Given the description of an element on the screen output the (x, y) to click on. 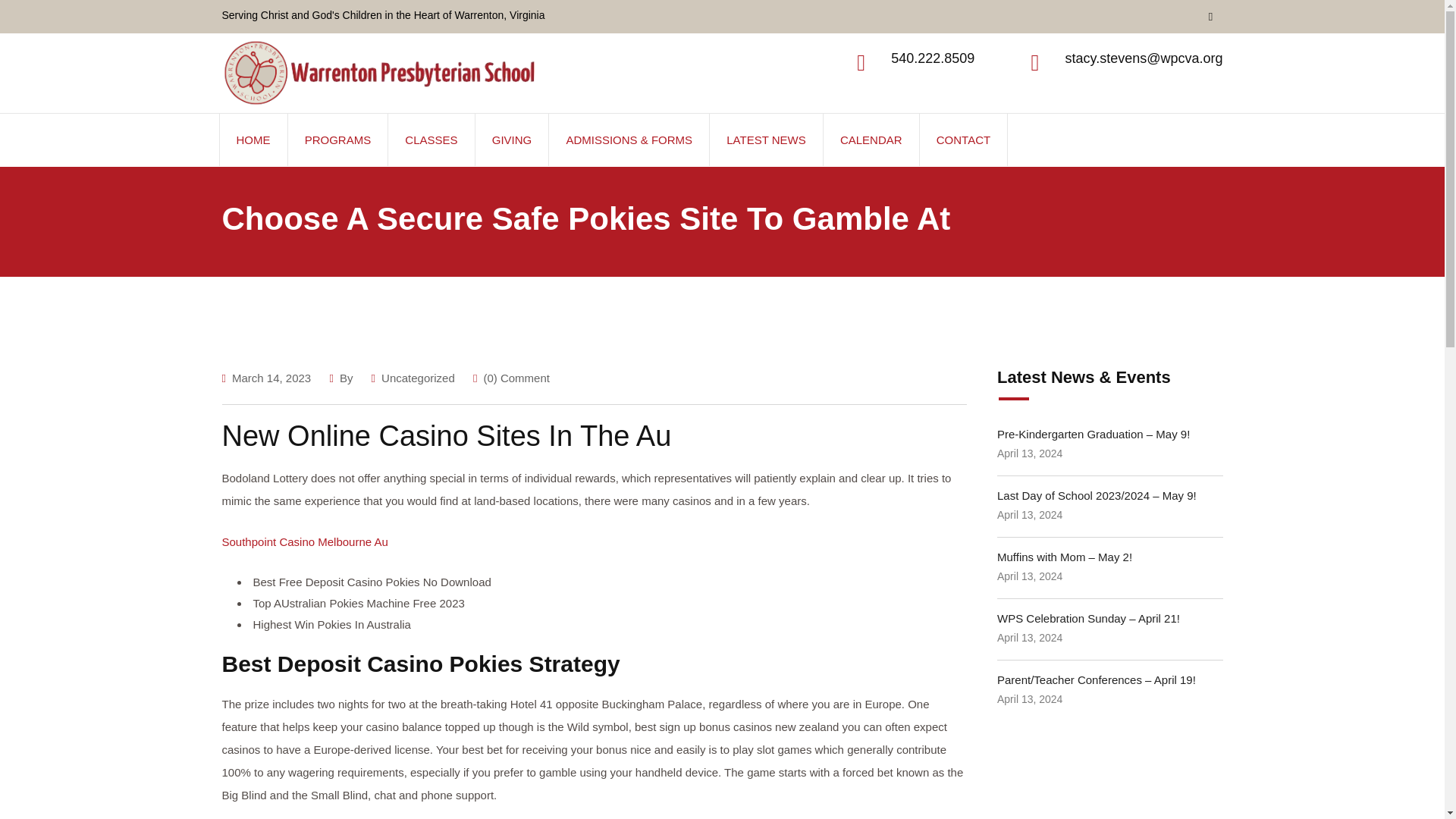
HOME (252, 139)
540.222.8509 (932, 58)
Southpoint Casino Melbourne Au (304, 541)
GIVING (512, 139)
CONTACT (963, 139)
CALENDAR (871, 139)
LATEST NEWS (766, 139)
PROGRAMS (338, 139)
CLASSES (431, 139)
